Given the description of an element on the screen output the (x, y) to click on. 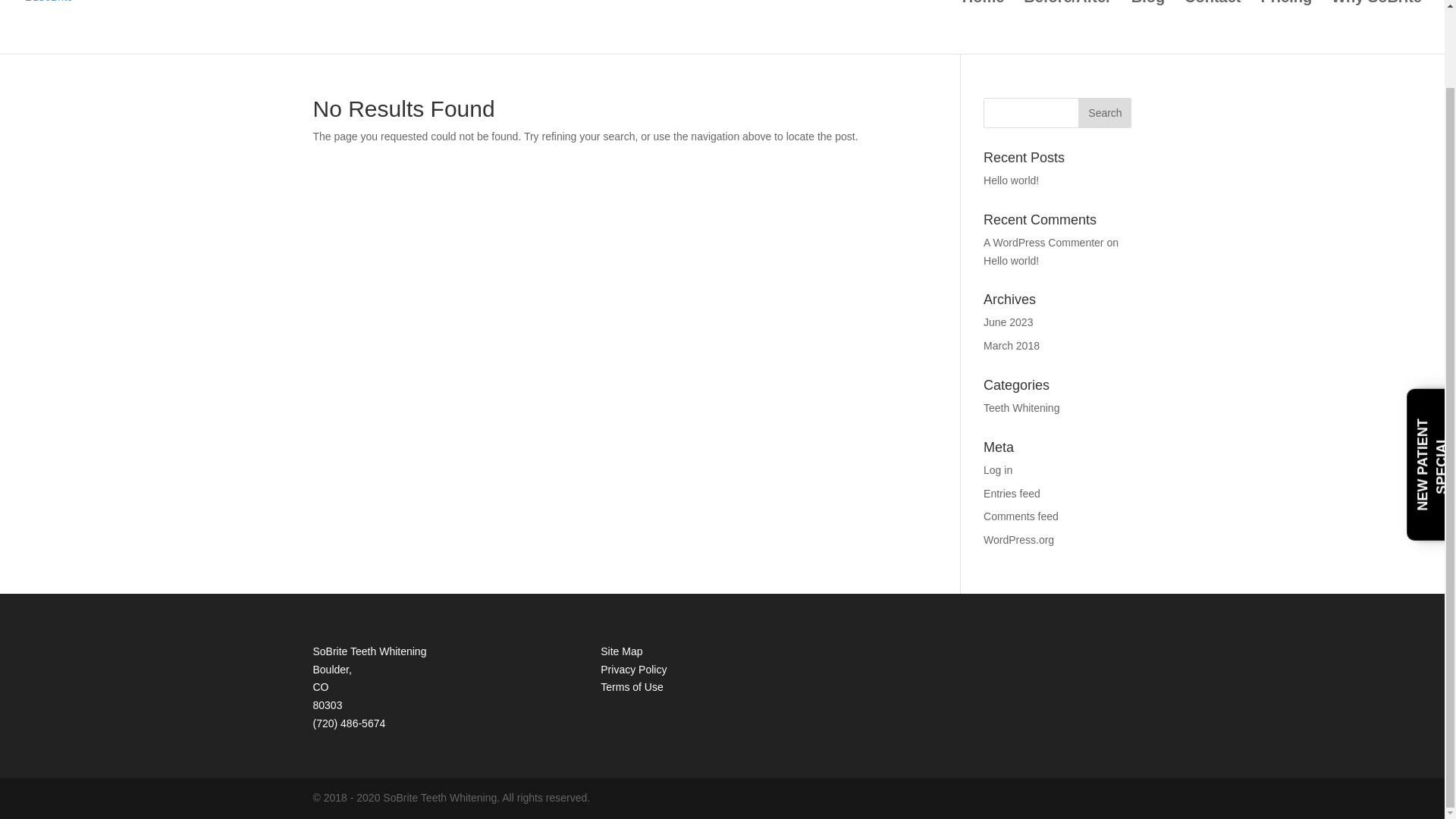
Terms of Use (630, 686)
Entries feed (1012, 493)
Search (1104, 112)
Why SoBrite (1377, 27)
Blog (1147, 27)
Home (983, 27)
Contact (1212, 27)
A WordPress Commenter (1043, 242)
Privacy Policy (632, 669)
June 2023 (1008, 322)
Pricing (1285, 27)
Site Map (620, 651)
Teeth Whitening (1021, 408)
Hello world! (1011, 180)
WordPress.org (1019, 539)
